Given the description of an element on the screen output the (x, y) to click on. 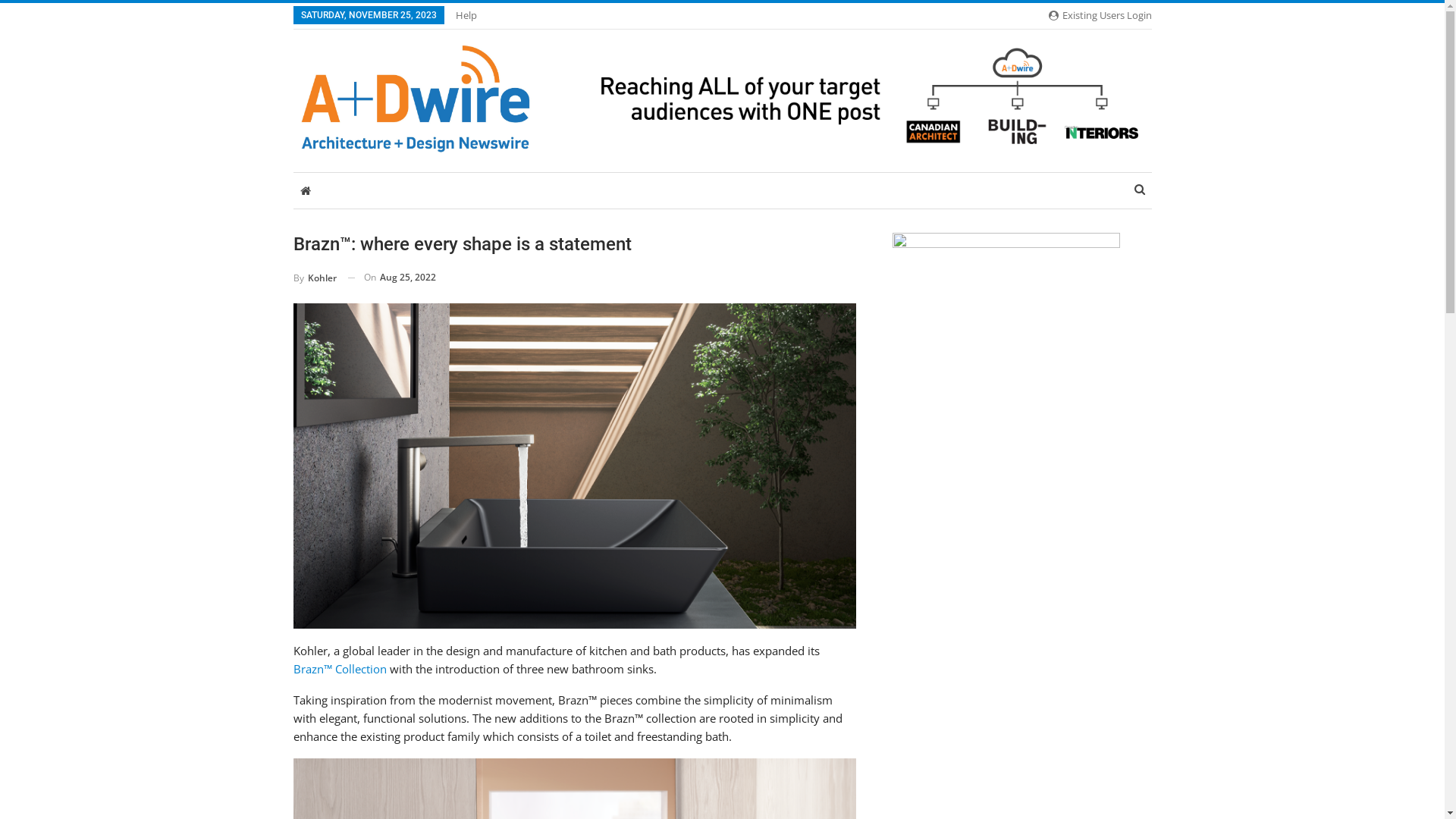
By Kohler Element type: text (313, 277)
Help Element type: text (465, 14)
Existing Users Login Element type: text (1099, 15)
